Given the description of an element on the screen output the (x, y) to click on. 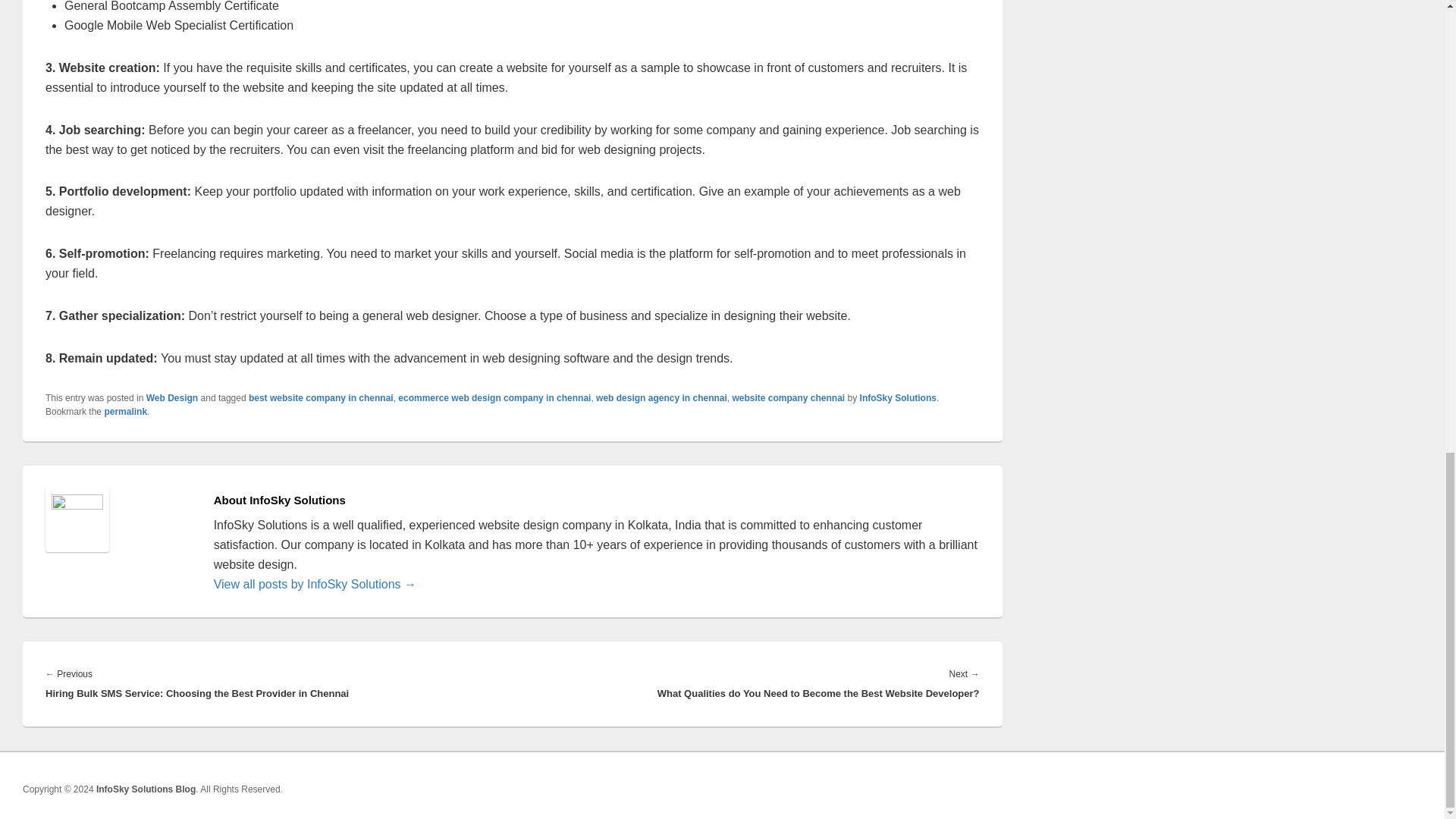
Permalink to 8 Easy Steps to Becoming the Best Web Designer (125, 411)
InfoSky Solutions Blog (145, 788)
